Given the description of an element on the screen output the (x, y) to click on. 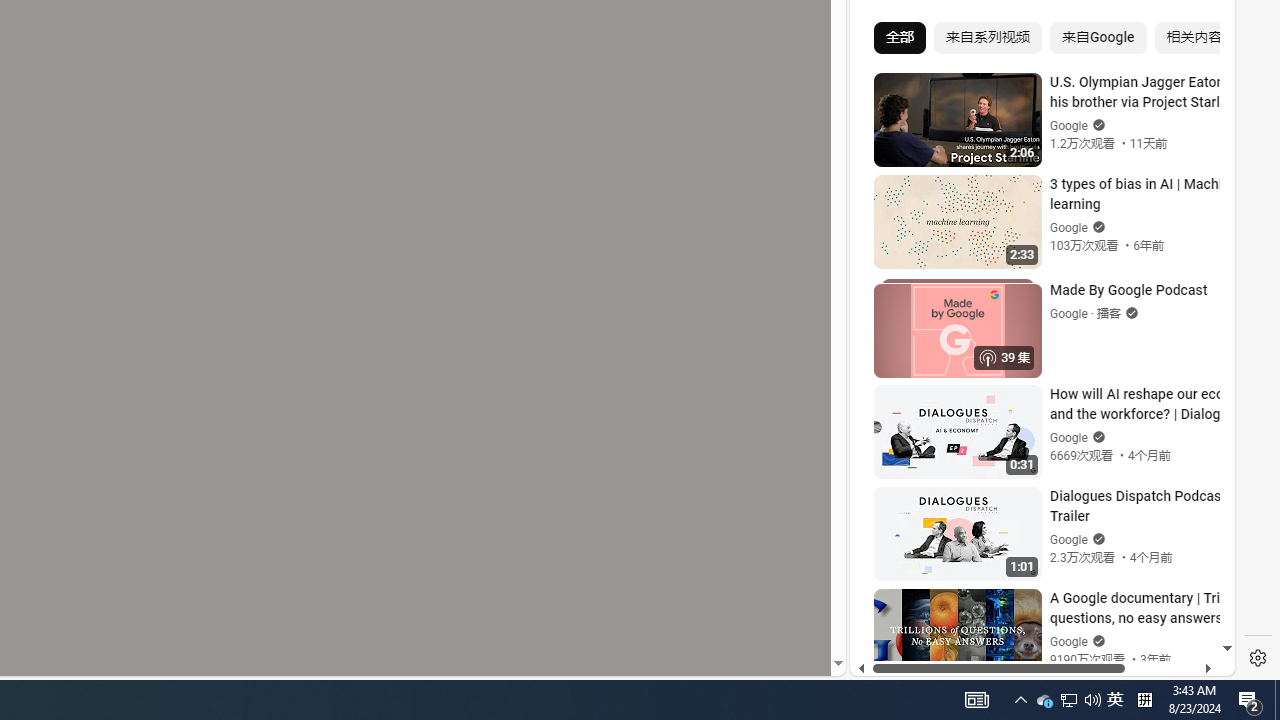
YouTube - YouTube (1034, 266)
